Given the description of an element on the screen output the (x, y) to click on. 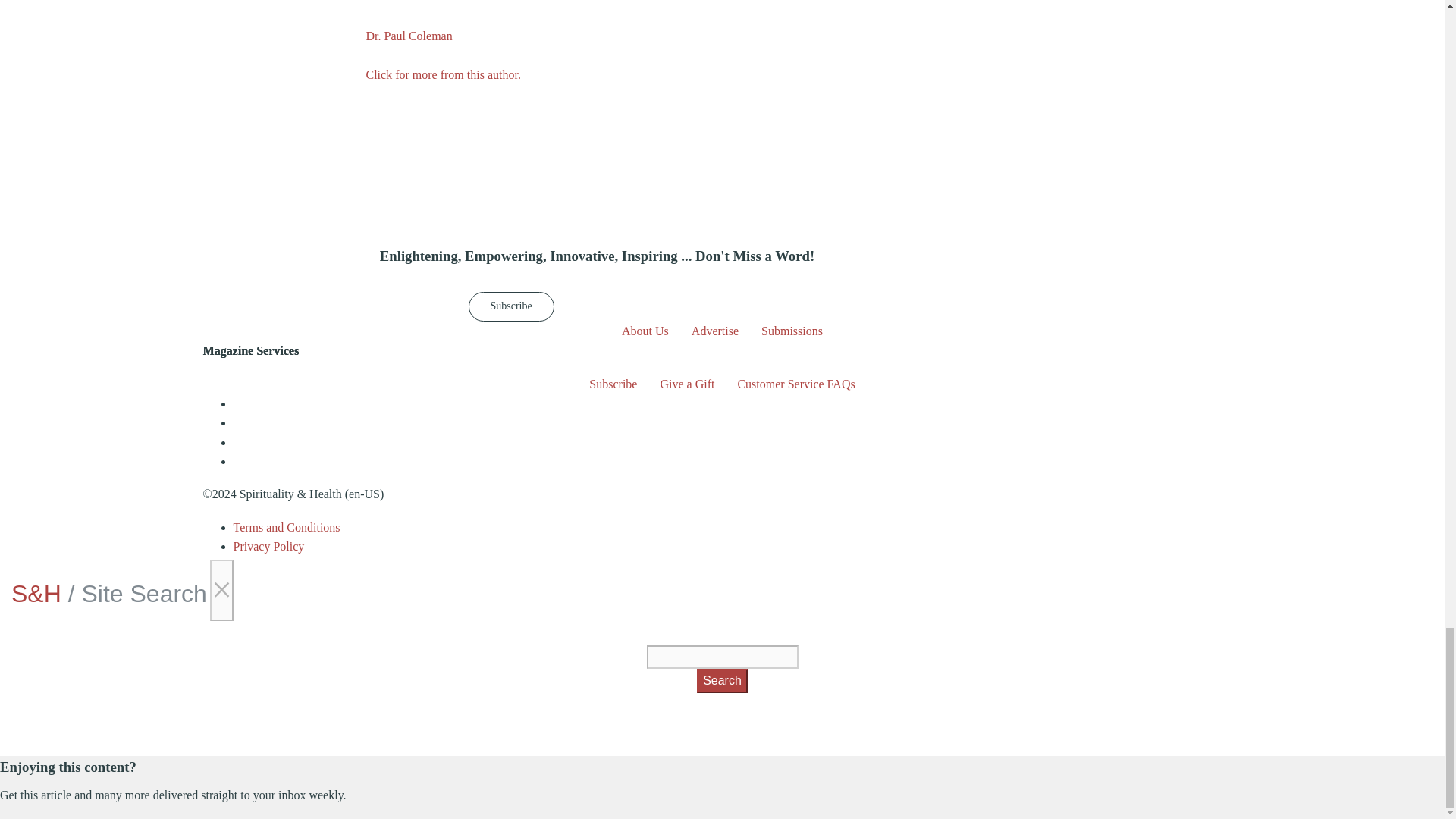
Search (722, 680)
